Given the description of an element on the screen output the (x, y) to click on. 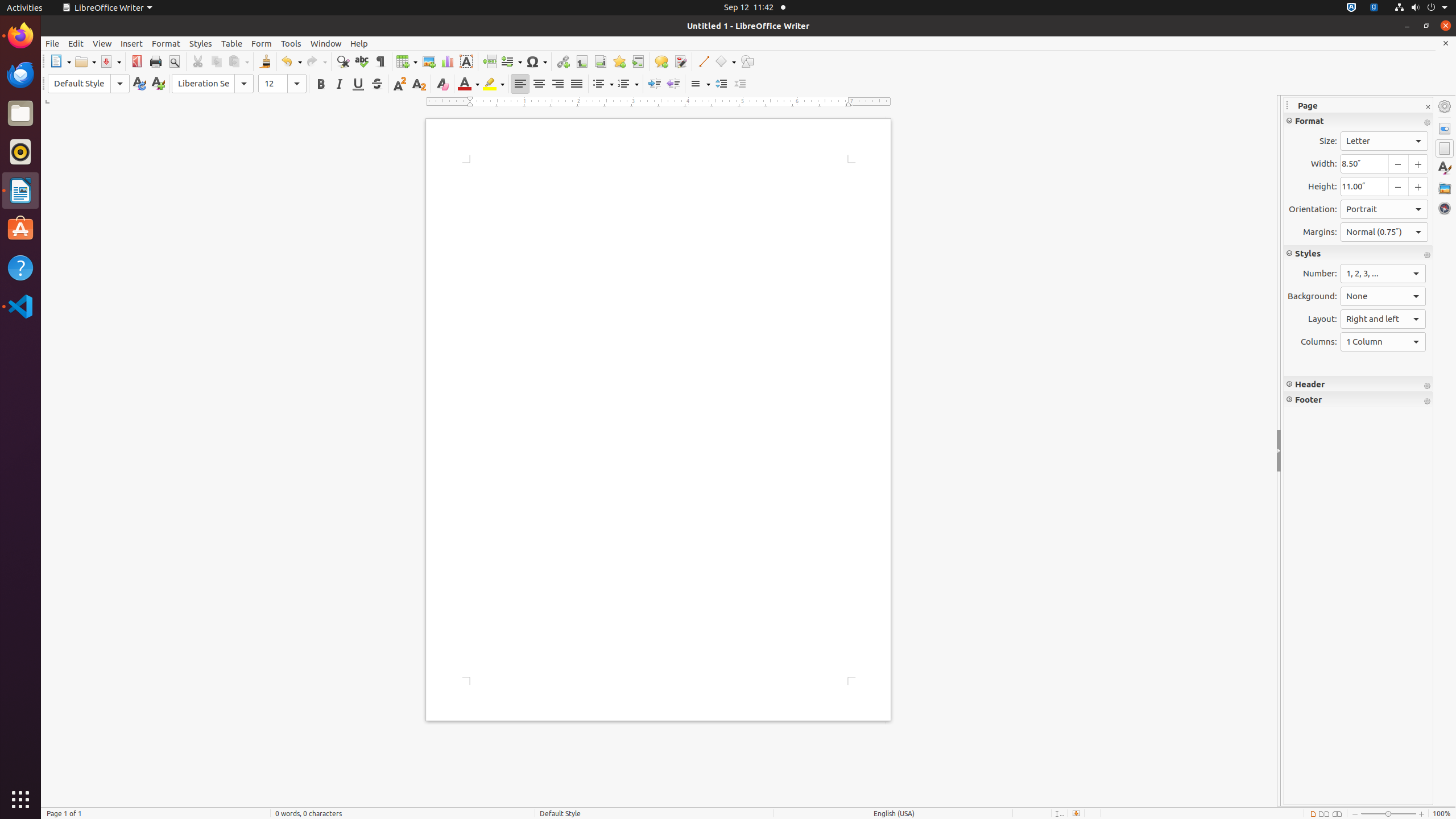
Copy Element type: push-button (216, 61)
Thunderbird Mail Element type: push-button (20, 74)
Styles Element type: menu (200, 43)
org.kde.StatusNotifierItem-14077-1 Element type: menu (1373, 7)
View Element type: menu (102, 43)
